Given the description of an element on the screen output the (x, y) to click on. 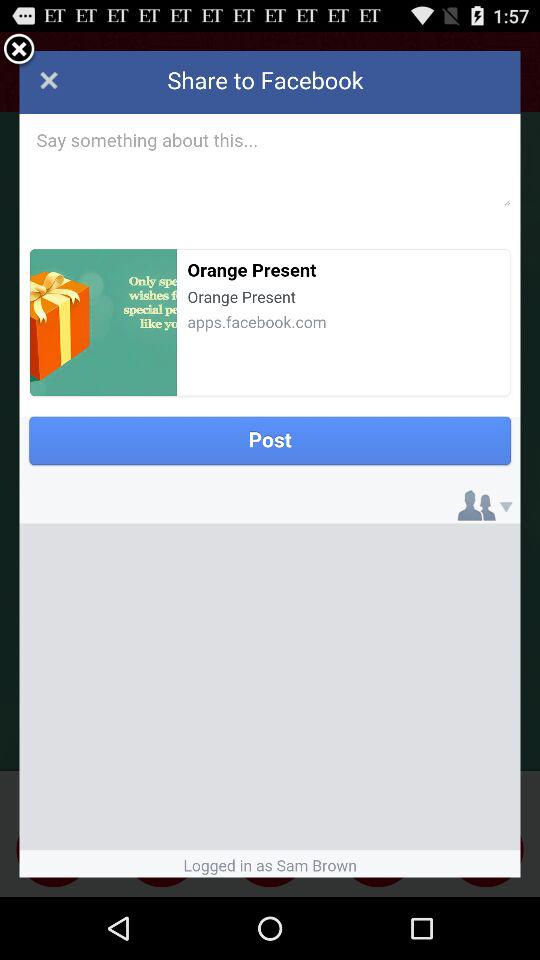
post to facebook (269, 464)
